Given the description of an element on the screen output the (x, y) to click on. 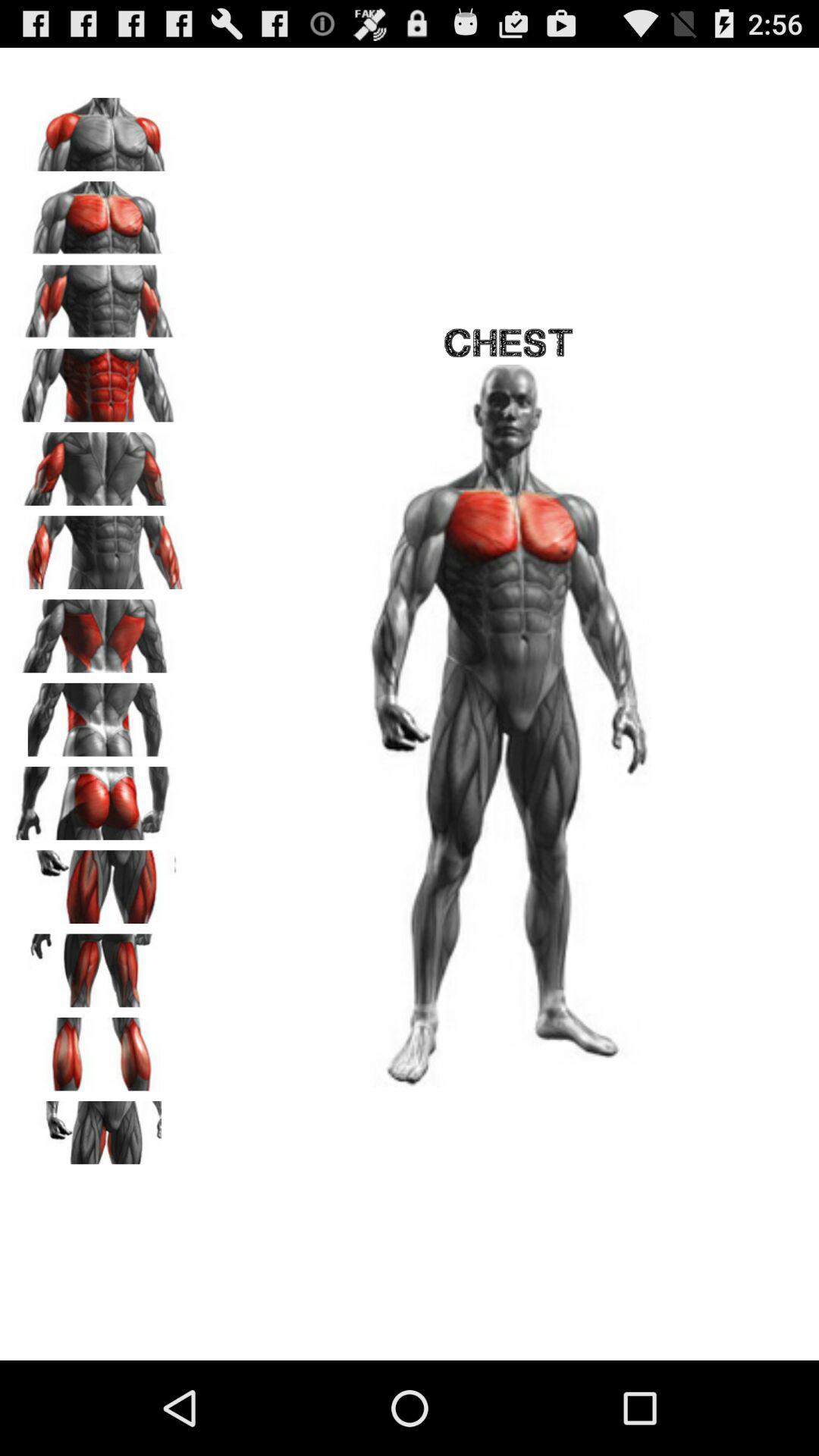
see the upper thigh (99, 965)
